Given the description of an element on the screen output the (x, y) to click on. 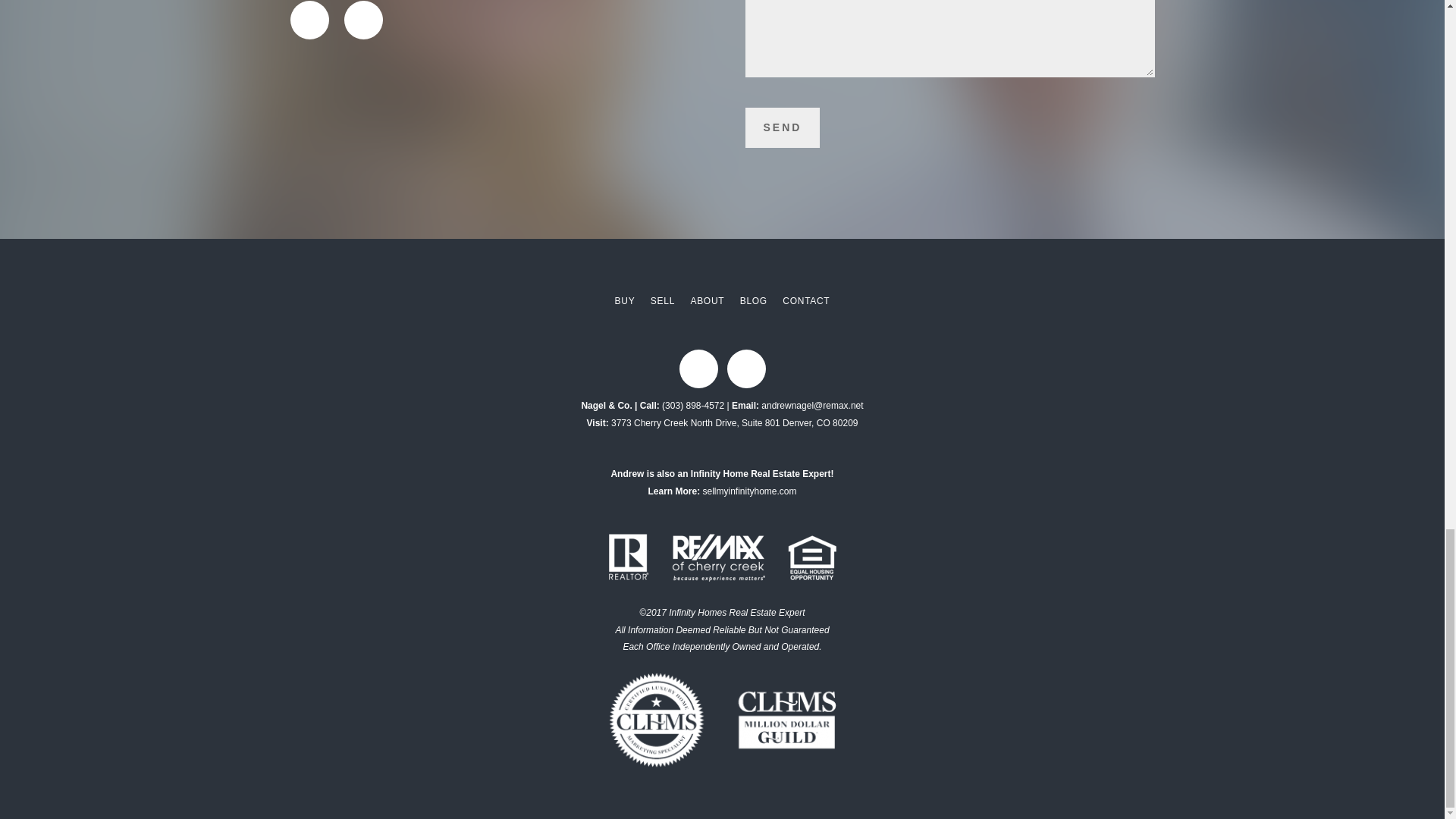
Send (781, 127)
CONTACT (806, 301)
ABOUT (706, 301)
Send (781, 127)
